Given the description of an element on the screen output the (x, y) to click on. 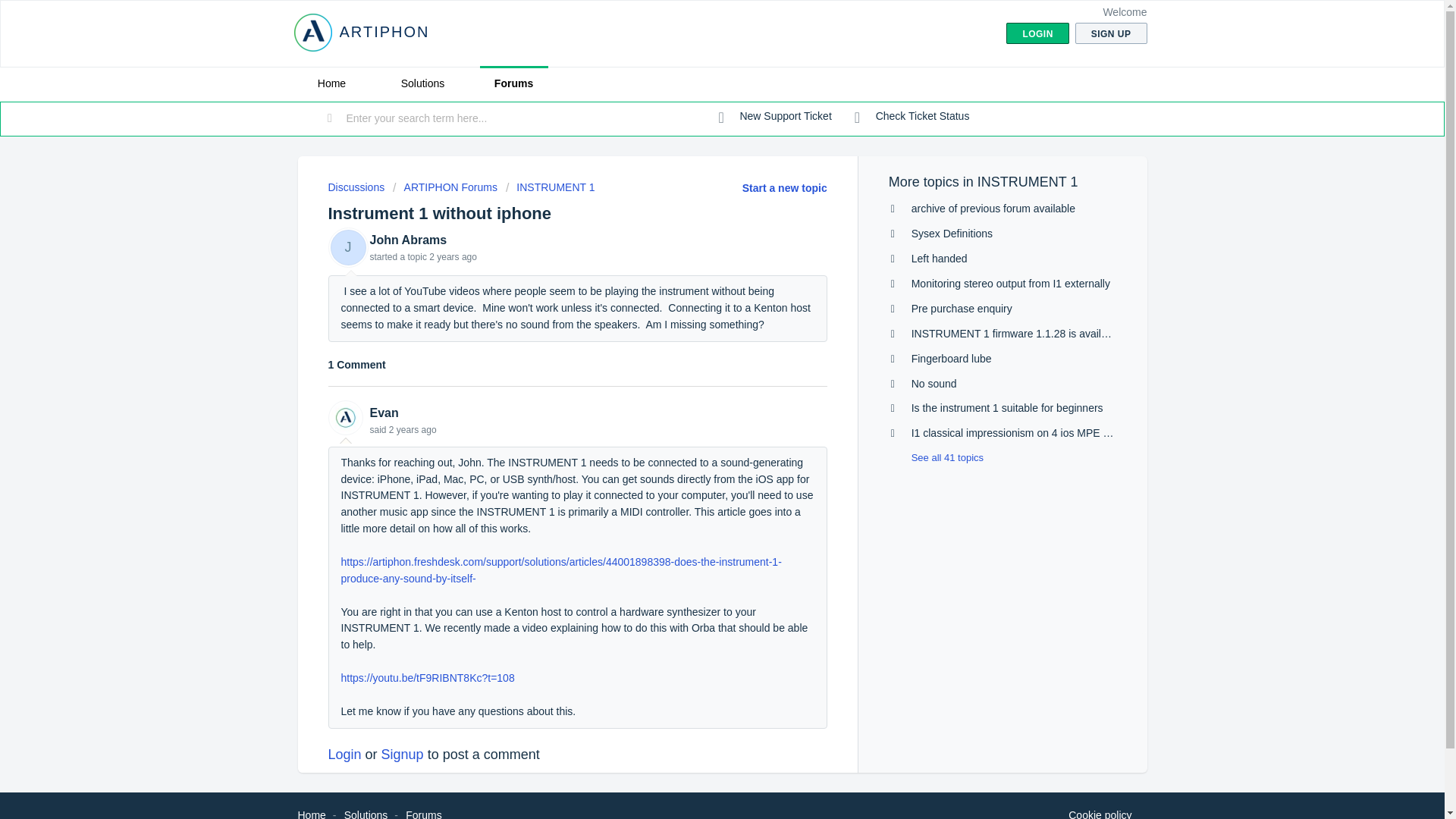
Sysex Definitions (951, 233)
Left handed (939, 258)
Why we love Cookies (1099, 813)
Is the instrument 1 suitable for beginners (1007, 408)
ARTIPHON Forums (445, 186)
Solutions (422, 83)
No sound (933, 383)
Forums (513, 83)
I1 classical impressionism on 4 ios MPE apps (1018, 432)
Signup (402, 754)
Start a new topic (784, 187)
Home (331, 83)
Monitoring stereo output from I1 externally (1010, 283)
New Support Ticket (775, 116)
Pre purchase enquiry (961, 308)
